Given the description of an element on the screen output the (x, y) to click on. 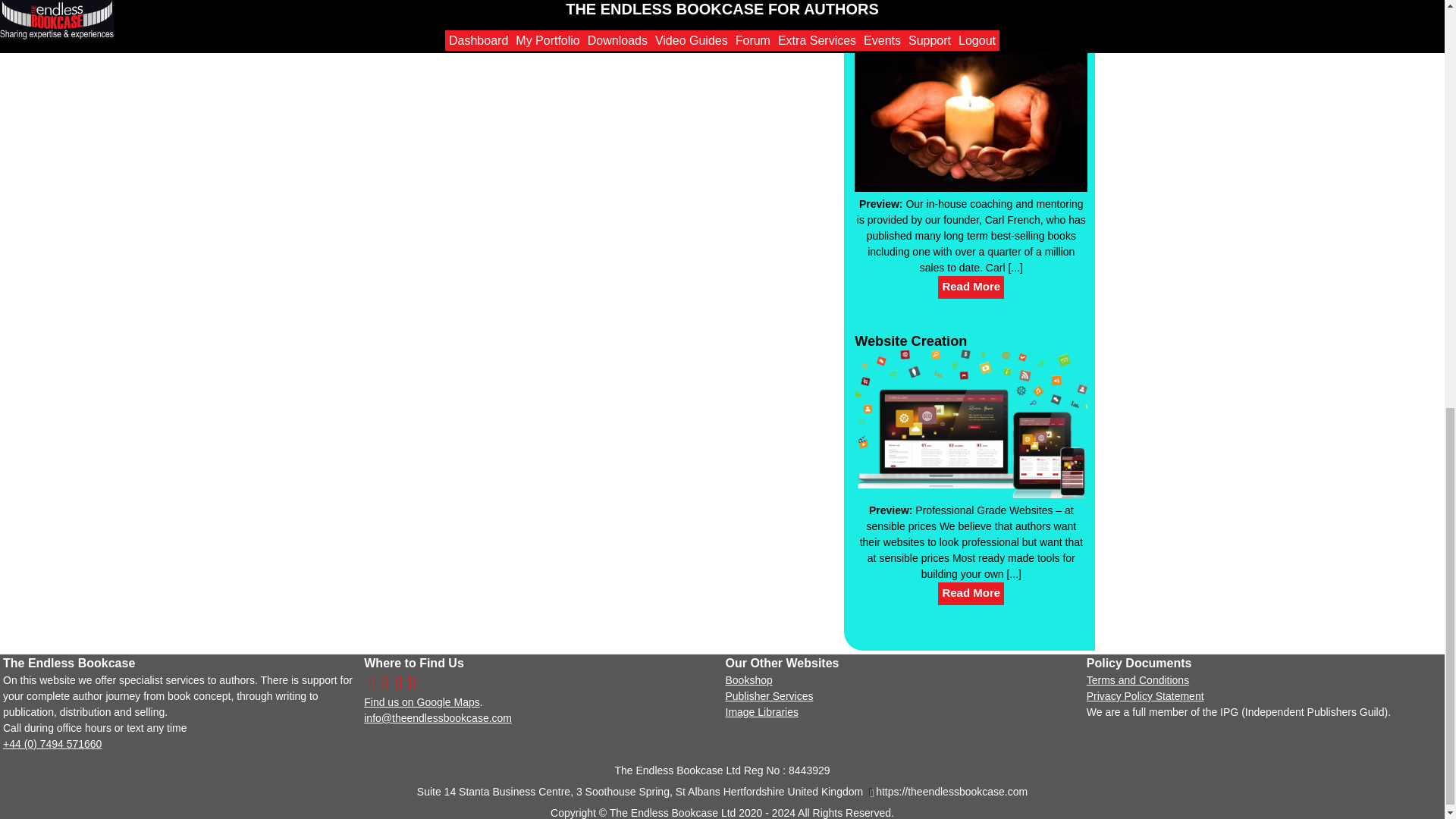
Terms and Conditions (1137, 680)
Privacy Policy Statement (1145, 695)
